Given the description of an element on the screen output the (x, y) to click on. 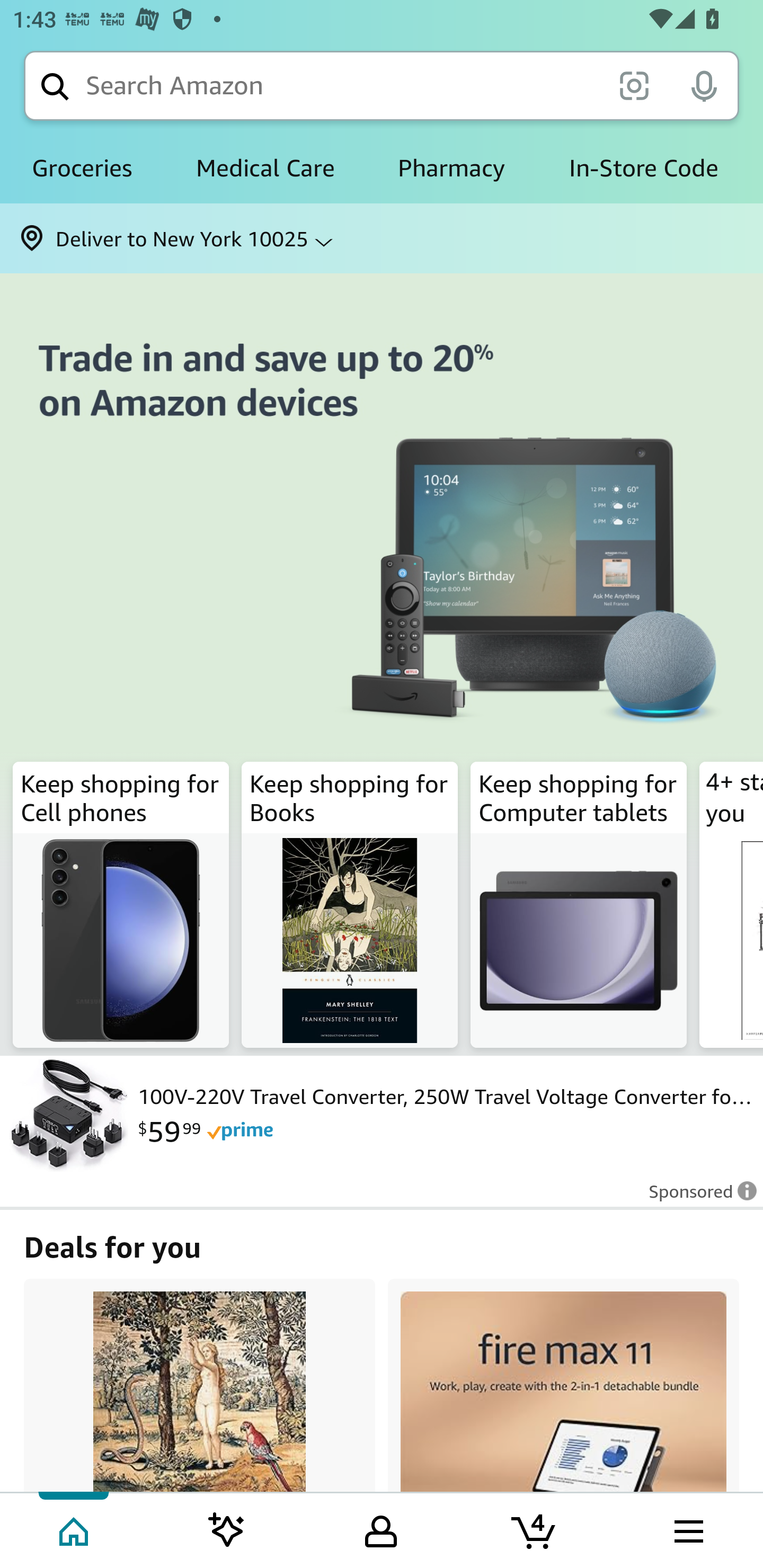
scan it (633, 85)
Groceries (82, 168)
Medical Care (265, 168)
Pharmacy (451, 168)
In-Store Code (643, 168)
Deliver to New York 10025 ⌵ (381, 237)
Trade in and save up to 20% on Amazon devices. (381, 570)
Keep shopping for Books Keep shopping for Books (349, 904)
Leave feedback on Sponsored ad Sponsored  (696, 1196)
Home Tab 1 of 5 (75, 1529)
Inspire feed Tab 2 of 5 (227, 1529)
Your Amazon.com Tab 3 of 5 (380, 1529)
Cart 4 items Tab 4 of 5 4 (534, 1529)
Browse menu Tab 5 of 5 (687, 1529)
